Given the description of an element on the screen output the (x, y) to click on. 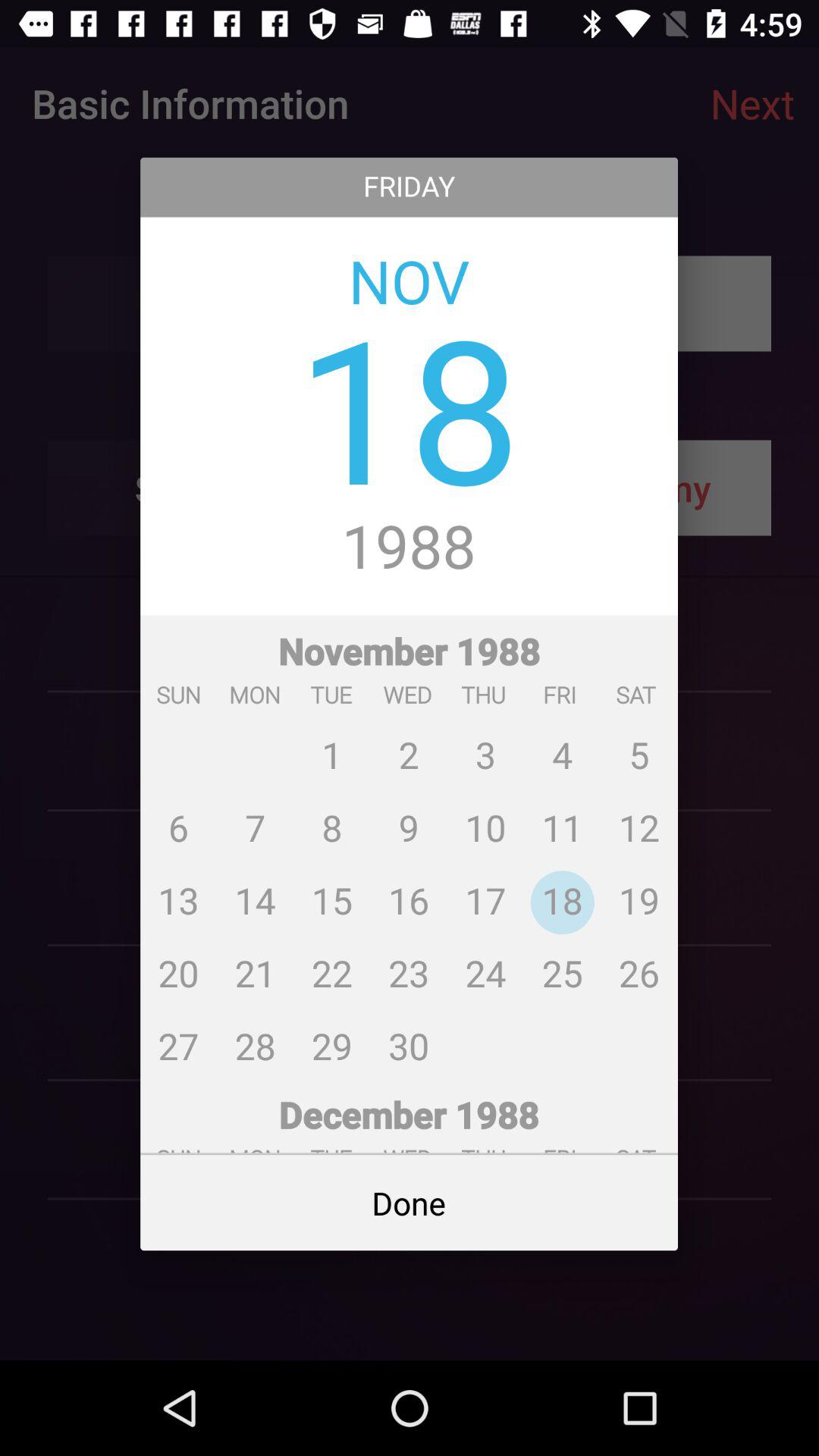
tap the done icon (408, 1202)
